Given the description of an element on the screen output the (x, y) to click on. 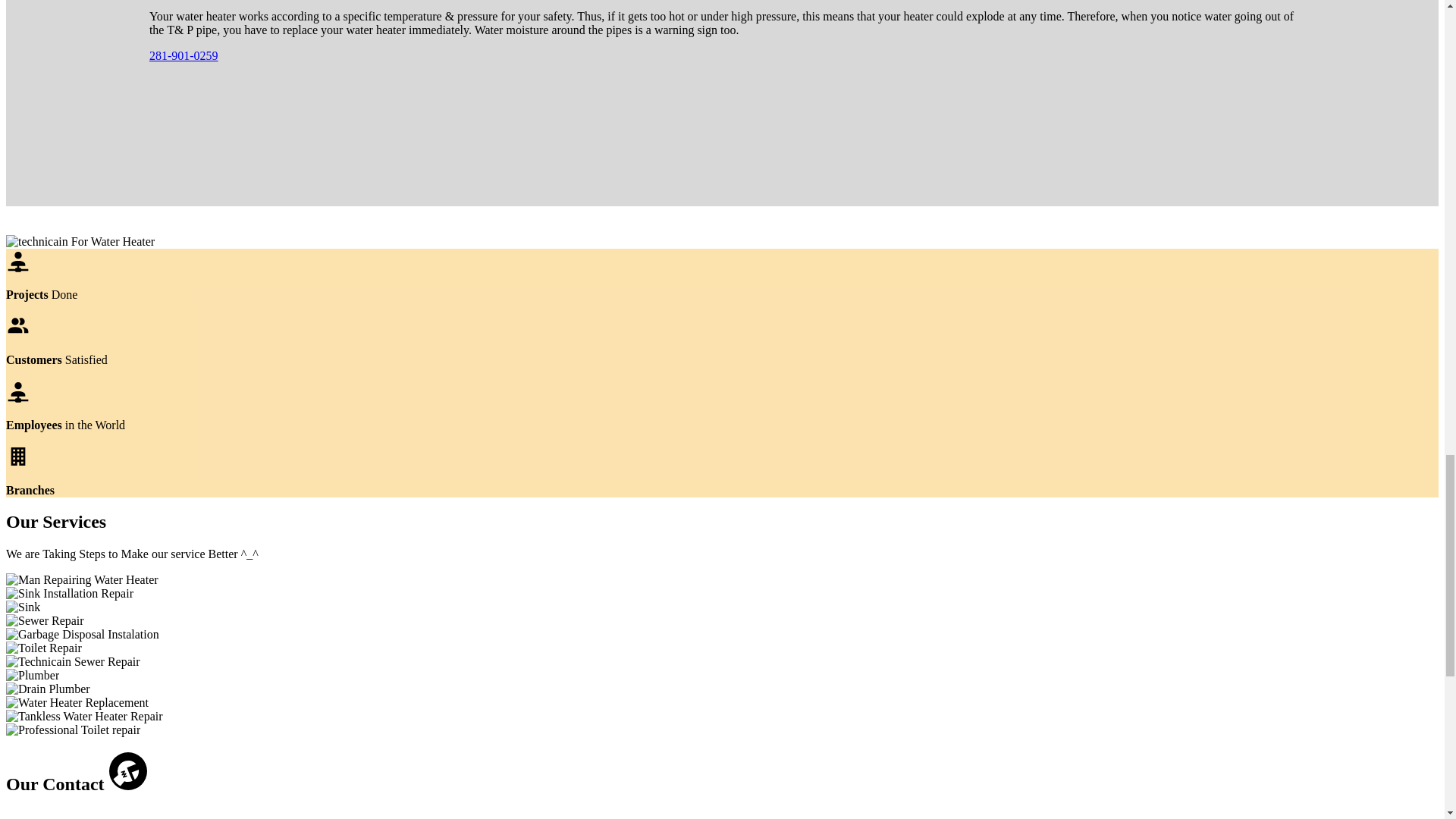
281-901-0259 (183, 55)
